Given the description of an element on the screen output the (x, y) to click on. 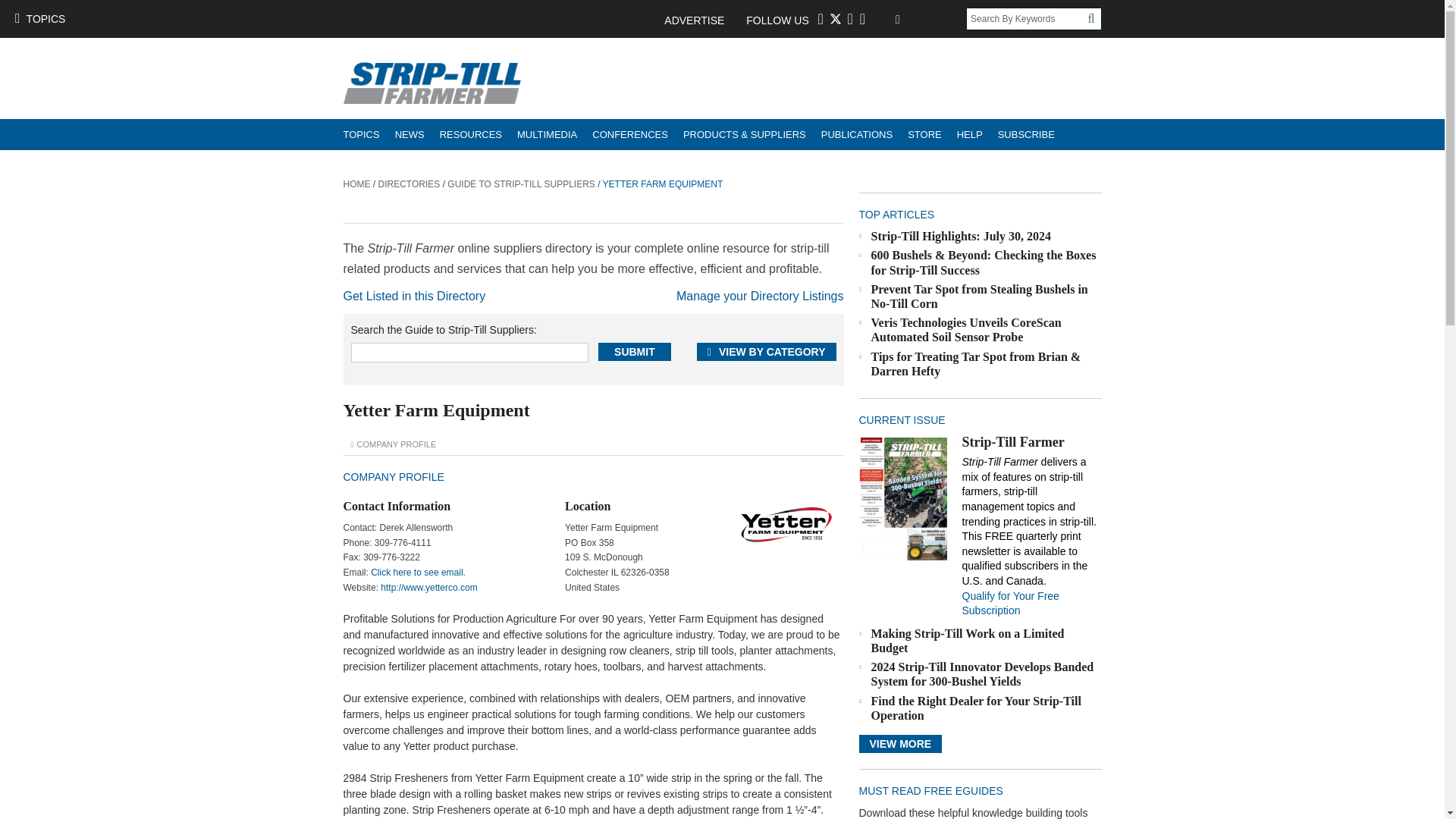
Prevent Tar Spot from Stealing Bushels in No-Till Corn (978, 296)
ADVERTISE (701, 20)
NEWS (409, 133)
Search By Keywords (1026, 18)
Strip-Till Farmer (903, 497)
Strip-Till Highlights: July 30, 2024 (960, 236)
Submit (634, 352)
Submit (634, 352)
Search By Keywords (1026, 18)
TOPICS (39, 18)
TOPICS (360, 133)
